Given the description of an element on the screen output the (x, y) to click on. 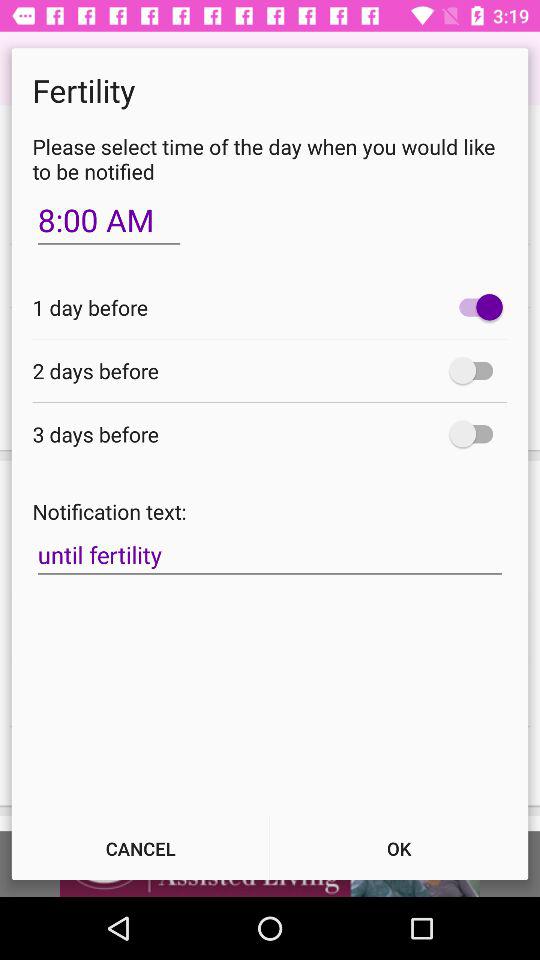
turn on item to the right of the 2 days before (476, 370)
